Given the description of an element on the screen output the (x, y) to click on. 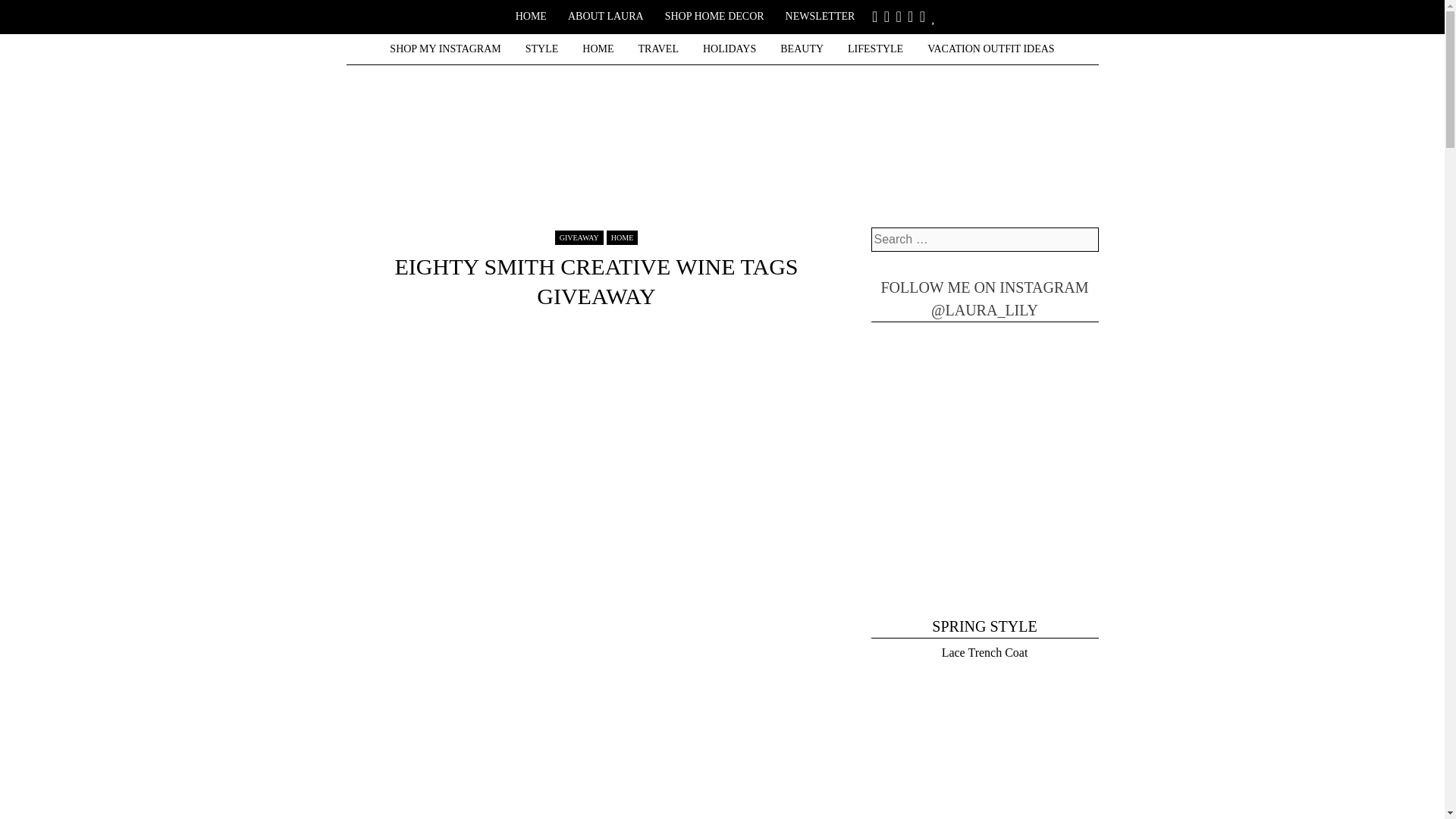
NEWSLETTER (820, 14)
View all posts in Home (622, 237)
View all posts in Giveaway (579, 237)
HOME (598, 46)
TRAVEL (657, 46)
SHOP HOME DECOR (713, 14)
STYLE (542, 46)
SHOP MY INSTAGRAM (444, 46)
HOME (531, 14)
ABOUT LAURA (605, 14)
